Given the description of an element on the screen output the (x, y) to click on. 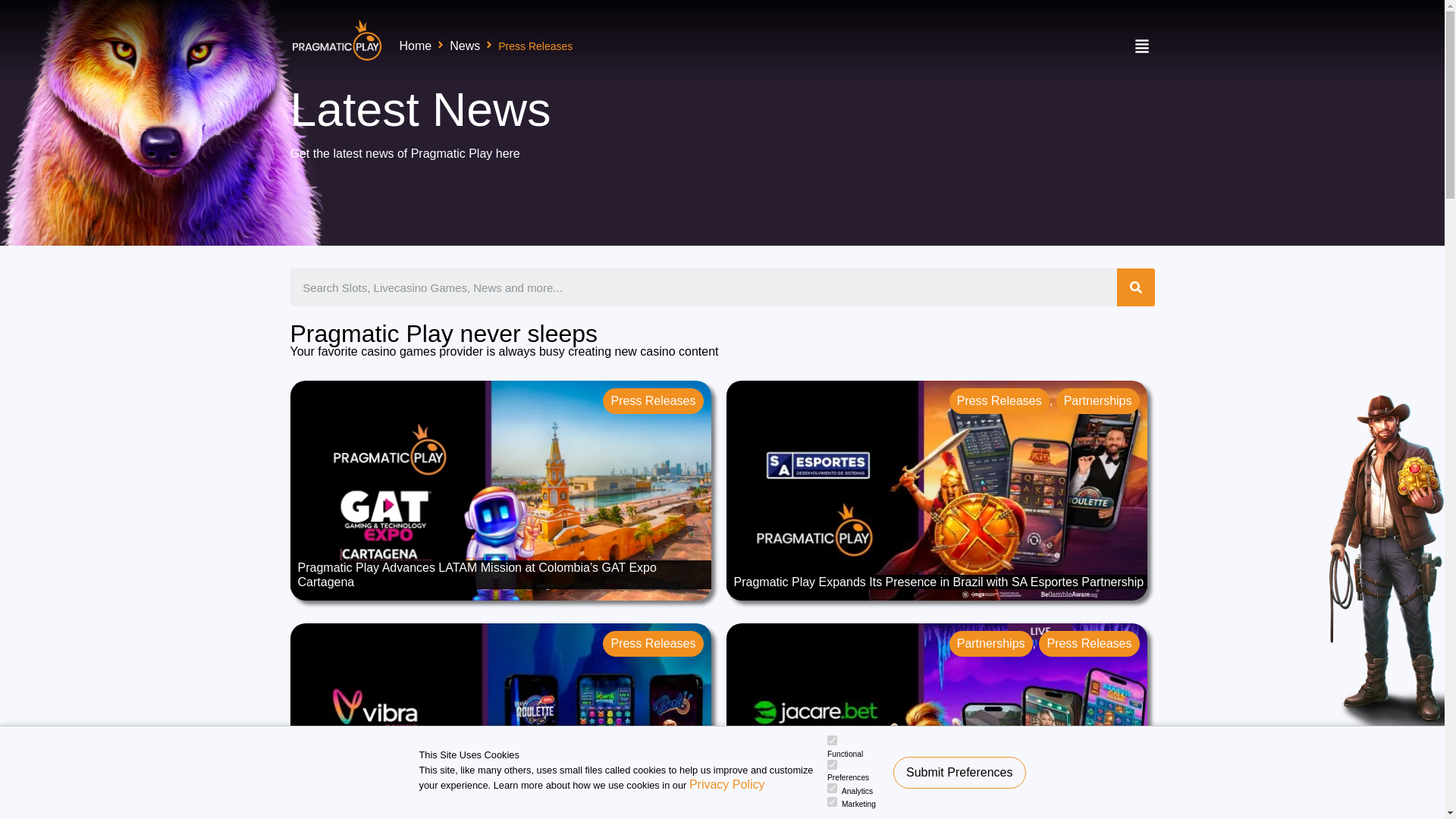
Search (1135, 287)
Home (415, 45)
Press Releases (999, 401)
Press Releases (1088, 643)
1 (832, 787)
1 (832, 740)
News (464, 45)
1 (832, 764)
